Given the description of an element on the screen output the (x, y) to click on. 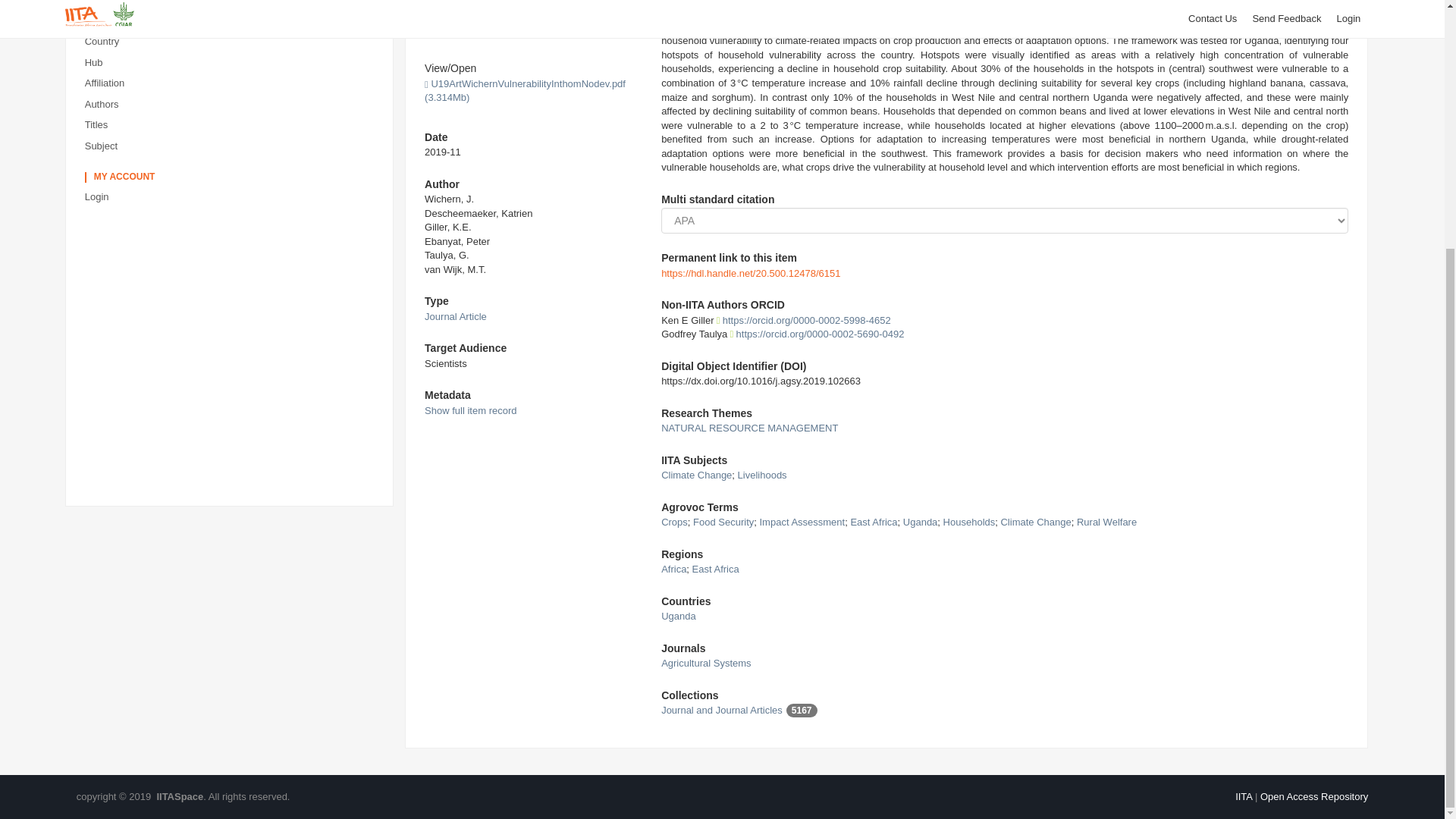
Affiliation (232, 83)
Show full item record (470, 410)
Country (232, 42)
Hub (232, 63)
Subject (232, 146)
Login (232, 197)
Journal Article (455, 316)
Authors (232, 105)
Region (232, 21)
Issue Date (232, 5)
